Given the description of an element on the screen output the (x, y) to click on. 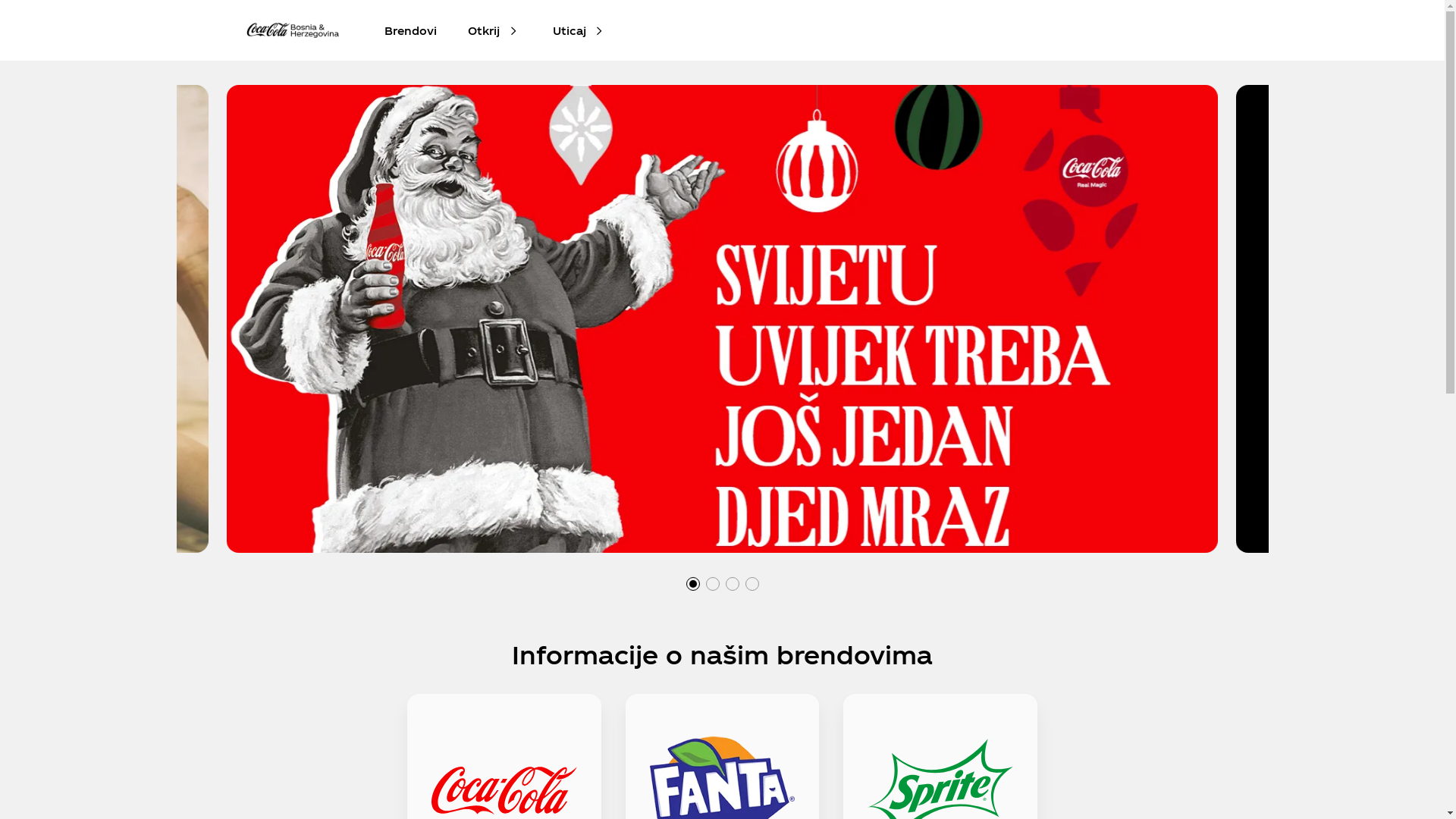
Otkrij Element type: text (483, 30)
Brendovi Element type: text (410, 30)
Uticaj Element type: text (568, 30)
